Given the description of an element on the screen output the (x, y) to click on. 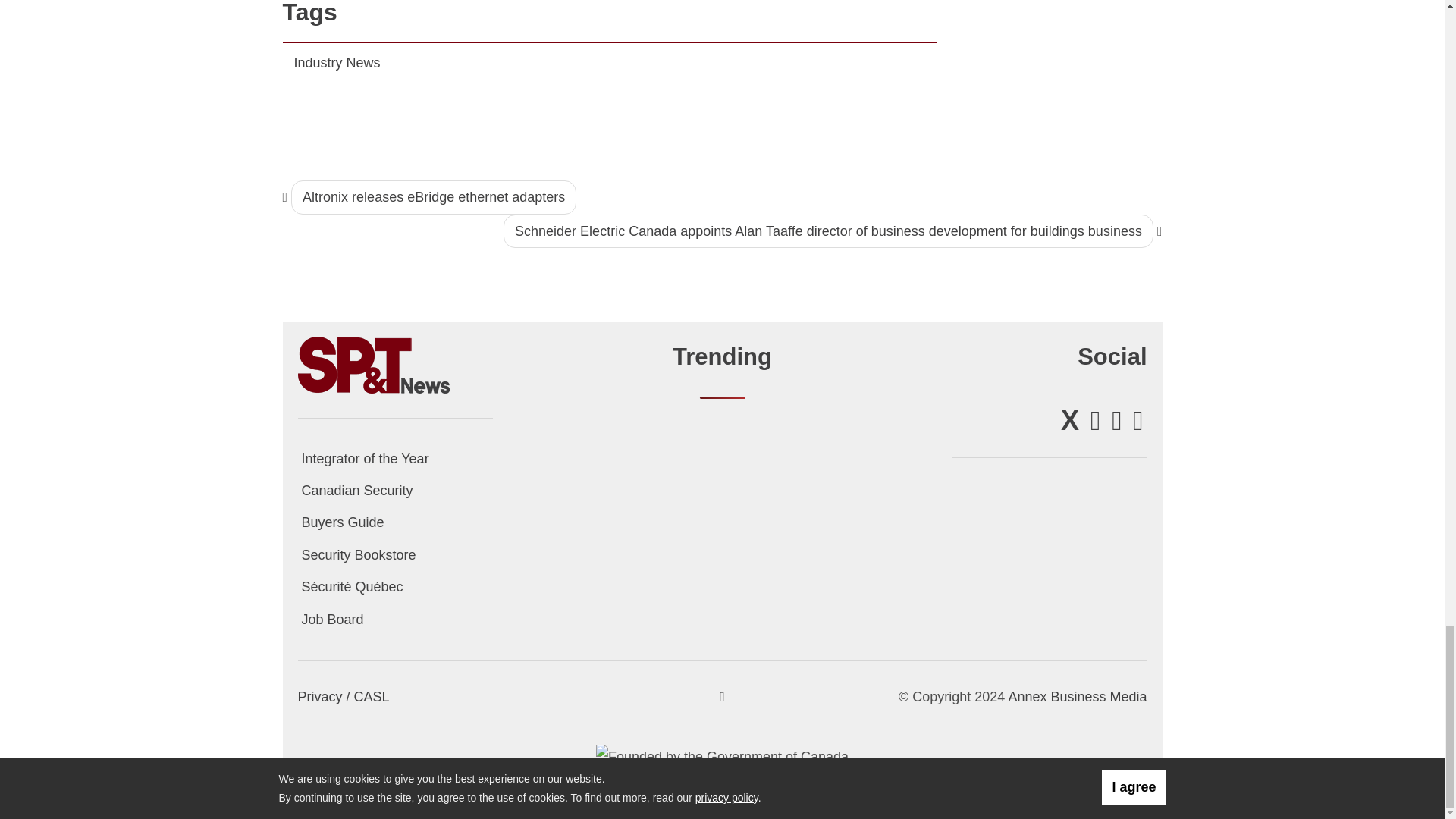
Annex Business Media (1077, 696)
